Given the description of an element on the screen output the (x, y) to click on. 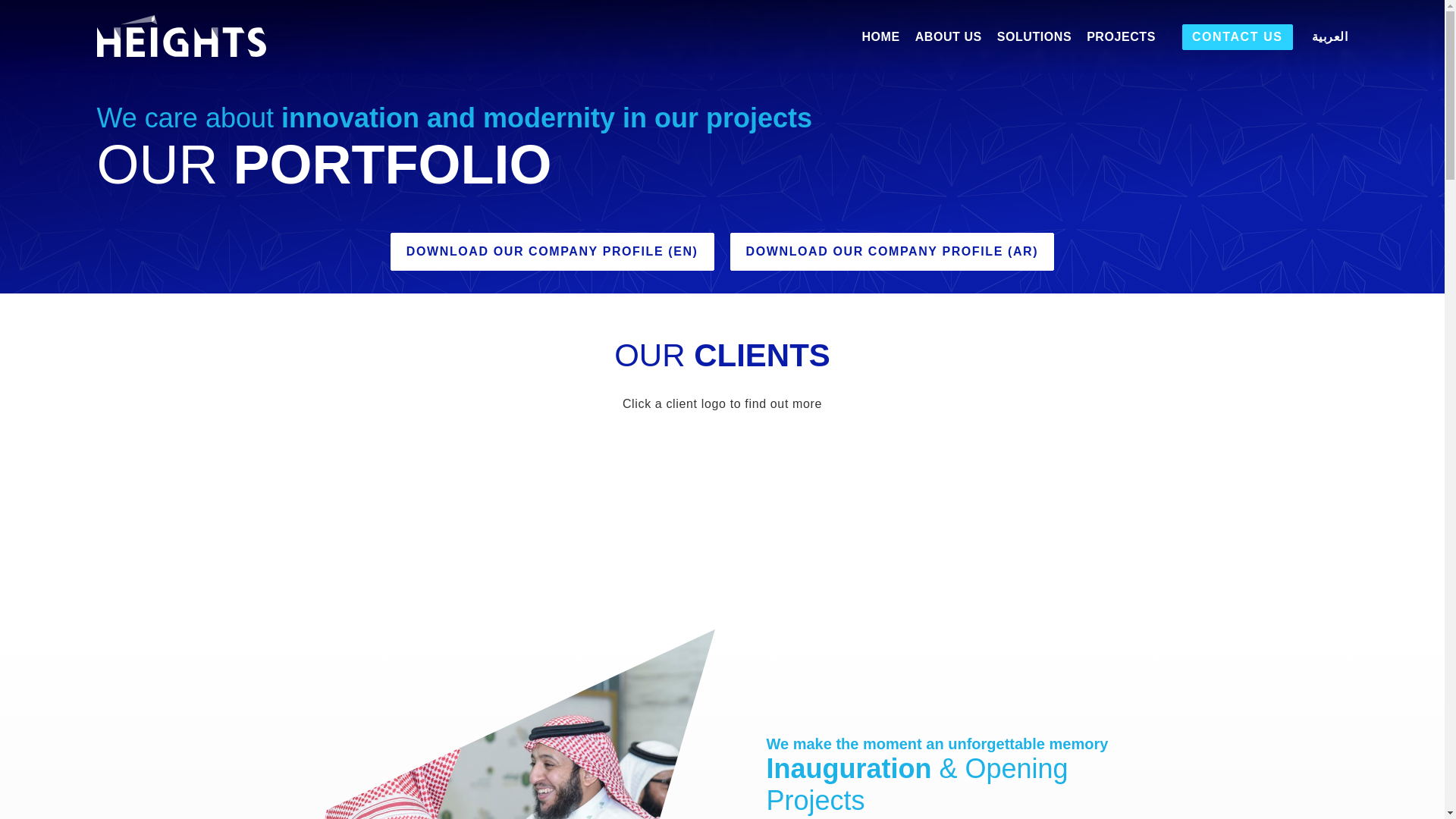
HOME (880, 36)
ABOUT US (948, 36)
CONTACT US (1237, 36)
SOLUTIONS (1034, 36)
PROJECTS (1121, 36)
